Given the description of an element on the screen output the (x, y) to click on. 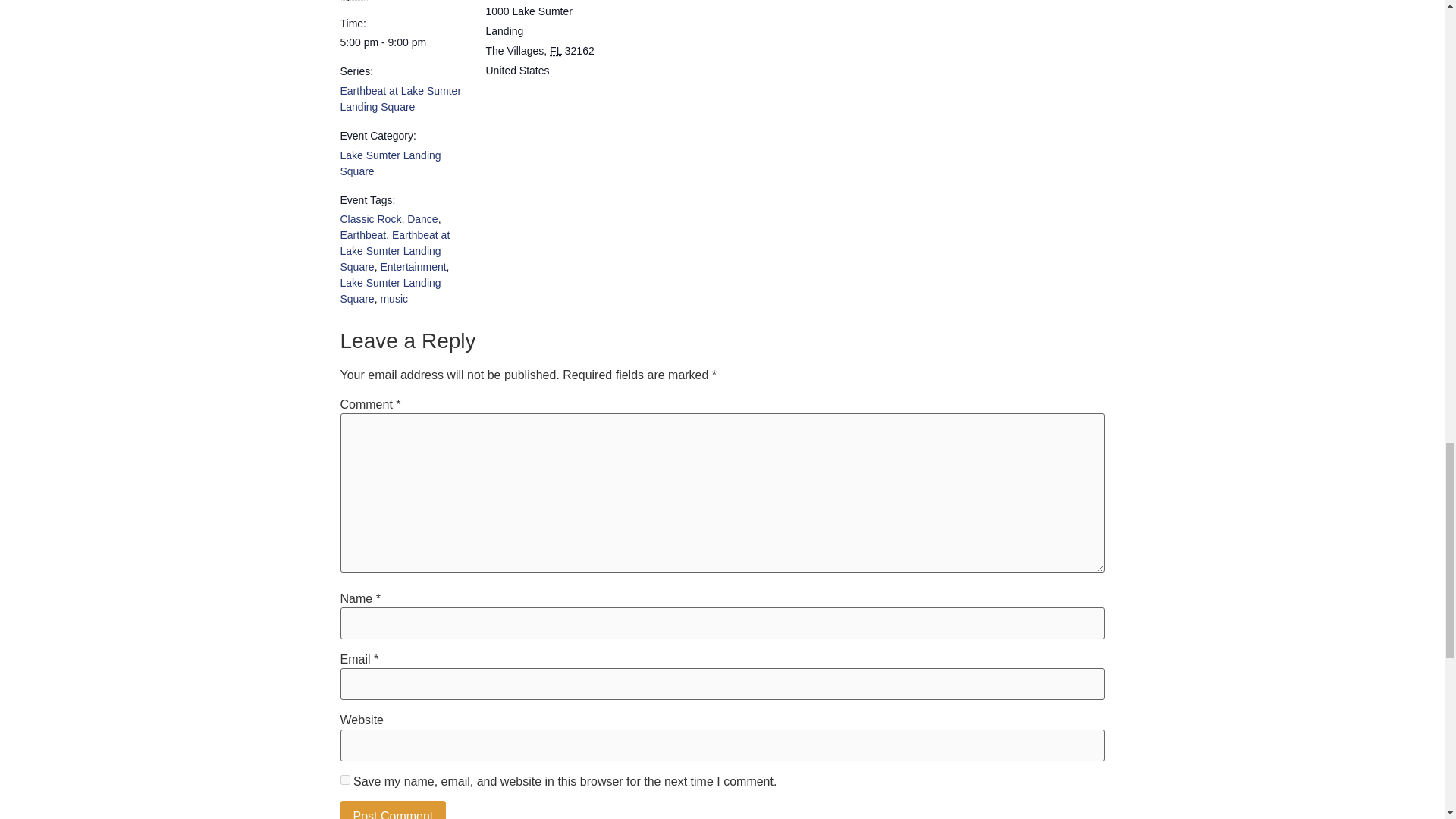
Florida (556, 50)
Earthbeat at Lake Sumter Landing Square (400, 99)
2024-04-04 (403, 42)
Post Comment (392, 809)
yes (344, 779)
